Given the description of an element on the screen output the (x, y) to click on. 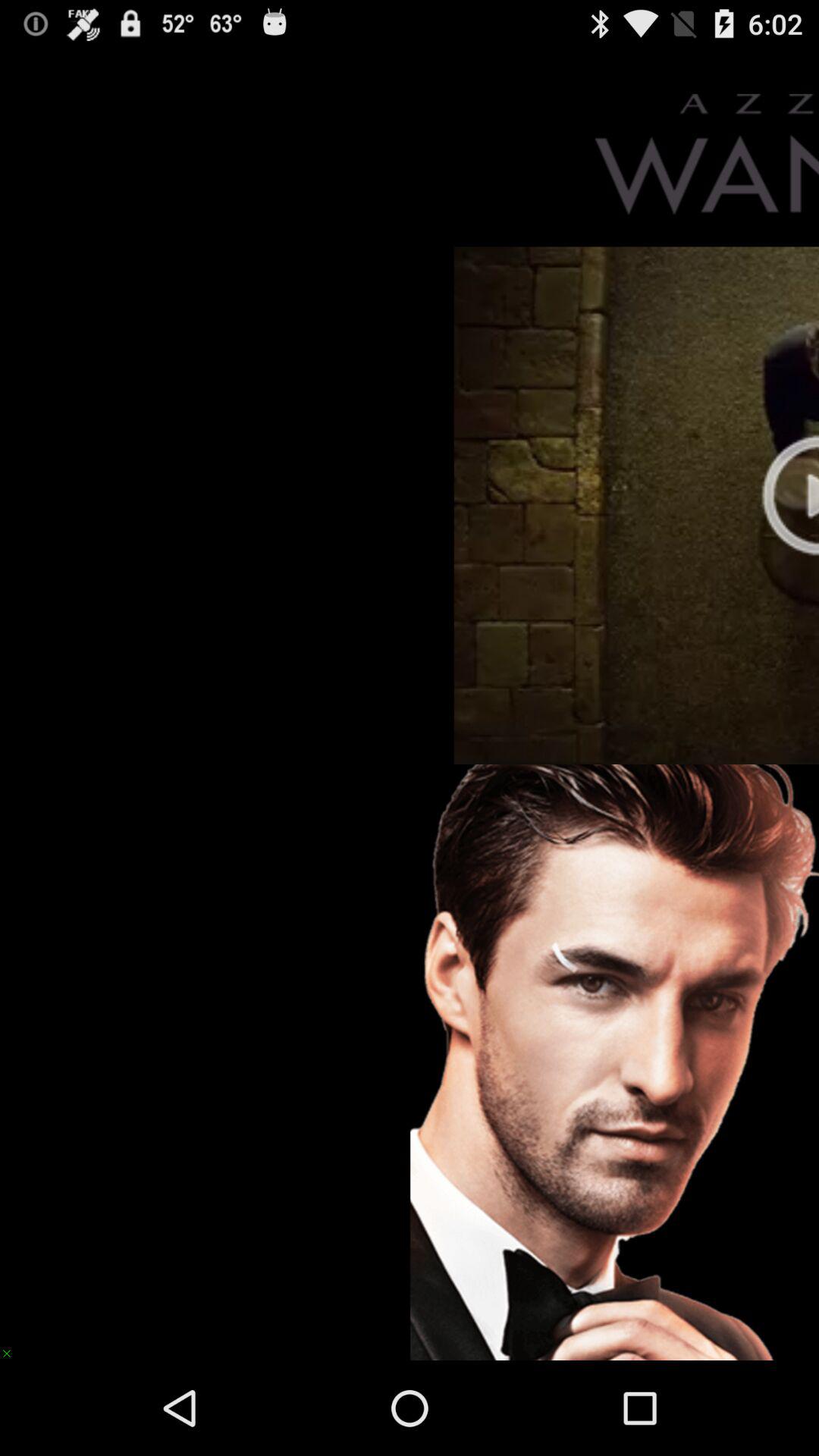
select the item at the bottom left corner (14, 1346)
